Given the description of an element on the screen output the (x, y) to click on. 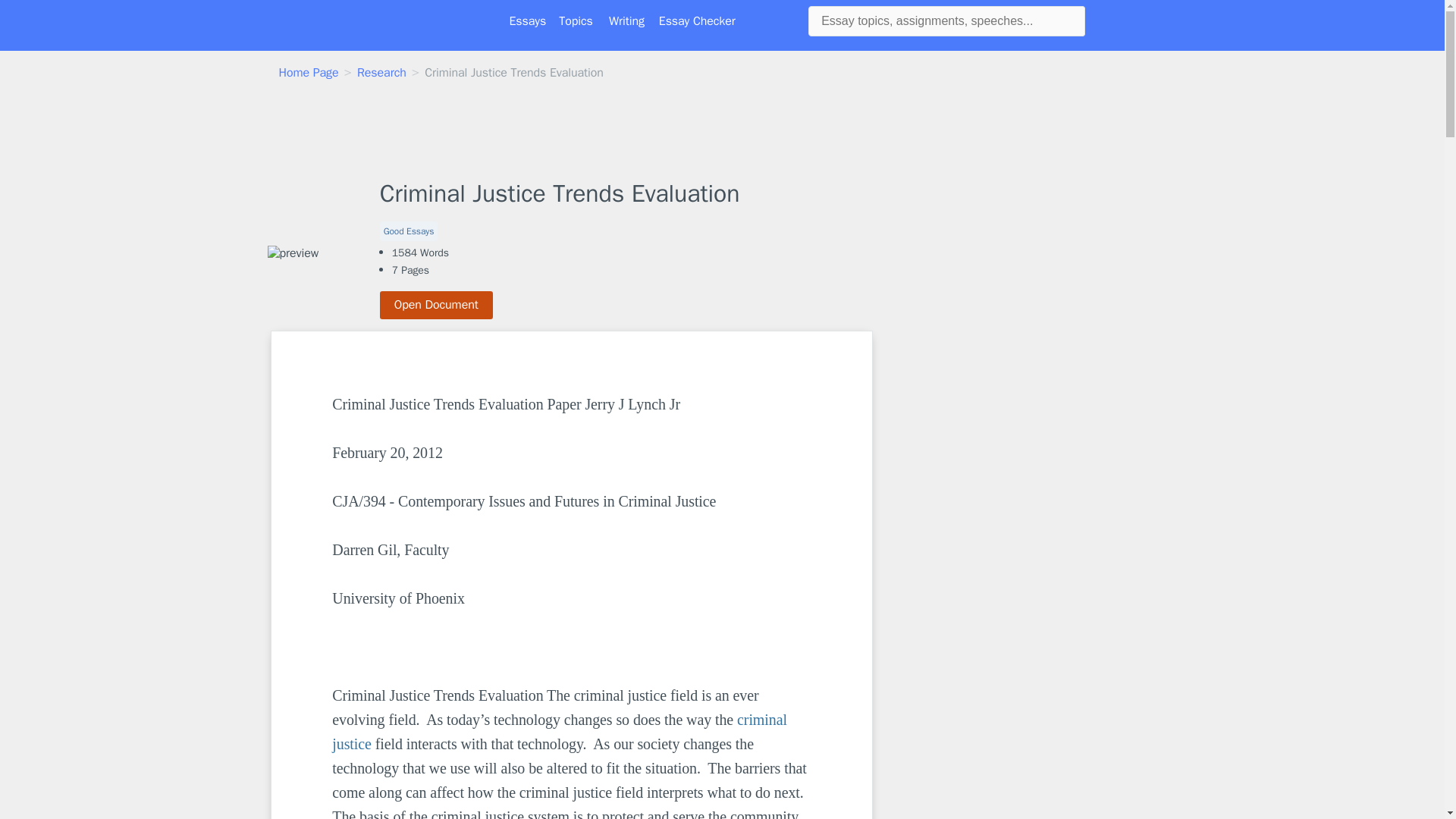
Essay Checker (697, 20)
Open Document (436, 305)
Topics (575, 20)
Research (381, 72)
Home Page (309, 72)
Writing (626, 20)
criminal justice (560, 731)
Essays (528, 20)
